Given the description of an element on the screen output the (x, y) to click on. 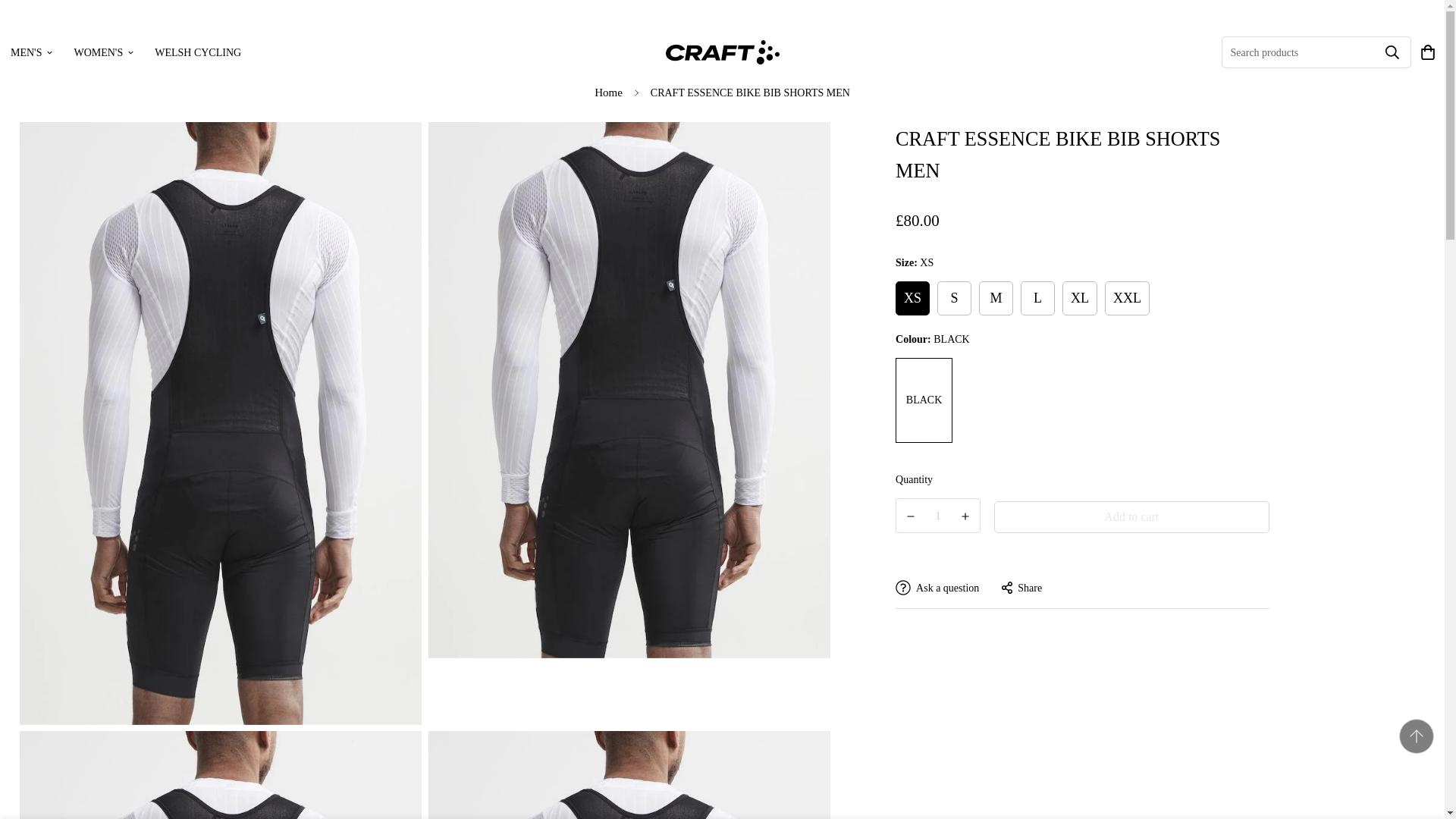
Back to the home page (608, 92)
MEN'S (301, 52)
M (125, 52)
Craft Sportswear (31, 52)
BLACK (721, 52)
